Given the description of an element on the screen output the (x, y) to click on. 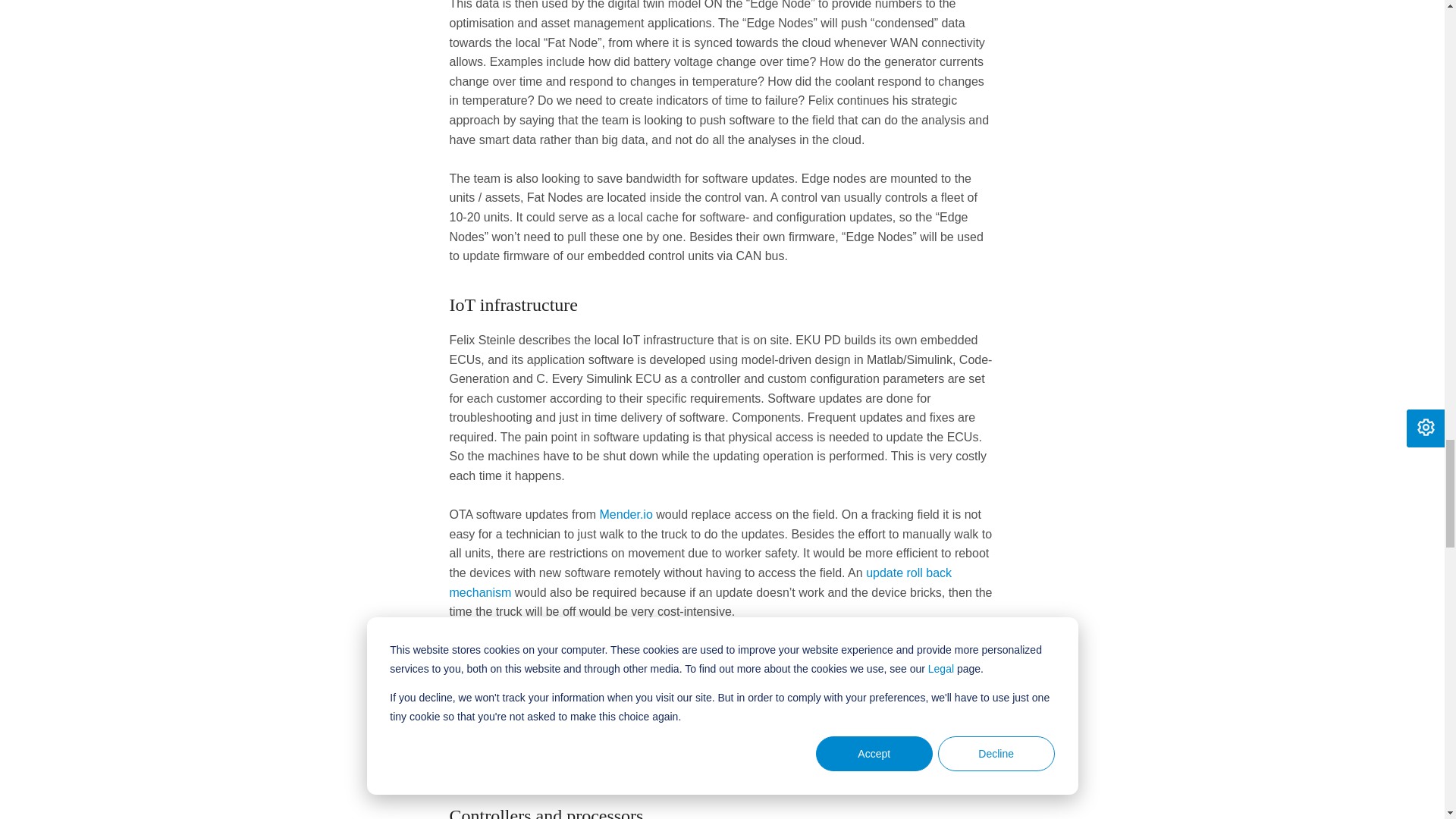
Mender.io (625, 513)
update roll back mechanism (700, 582)
